Given the description of an element on the screen output the (x, y) to click on. 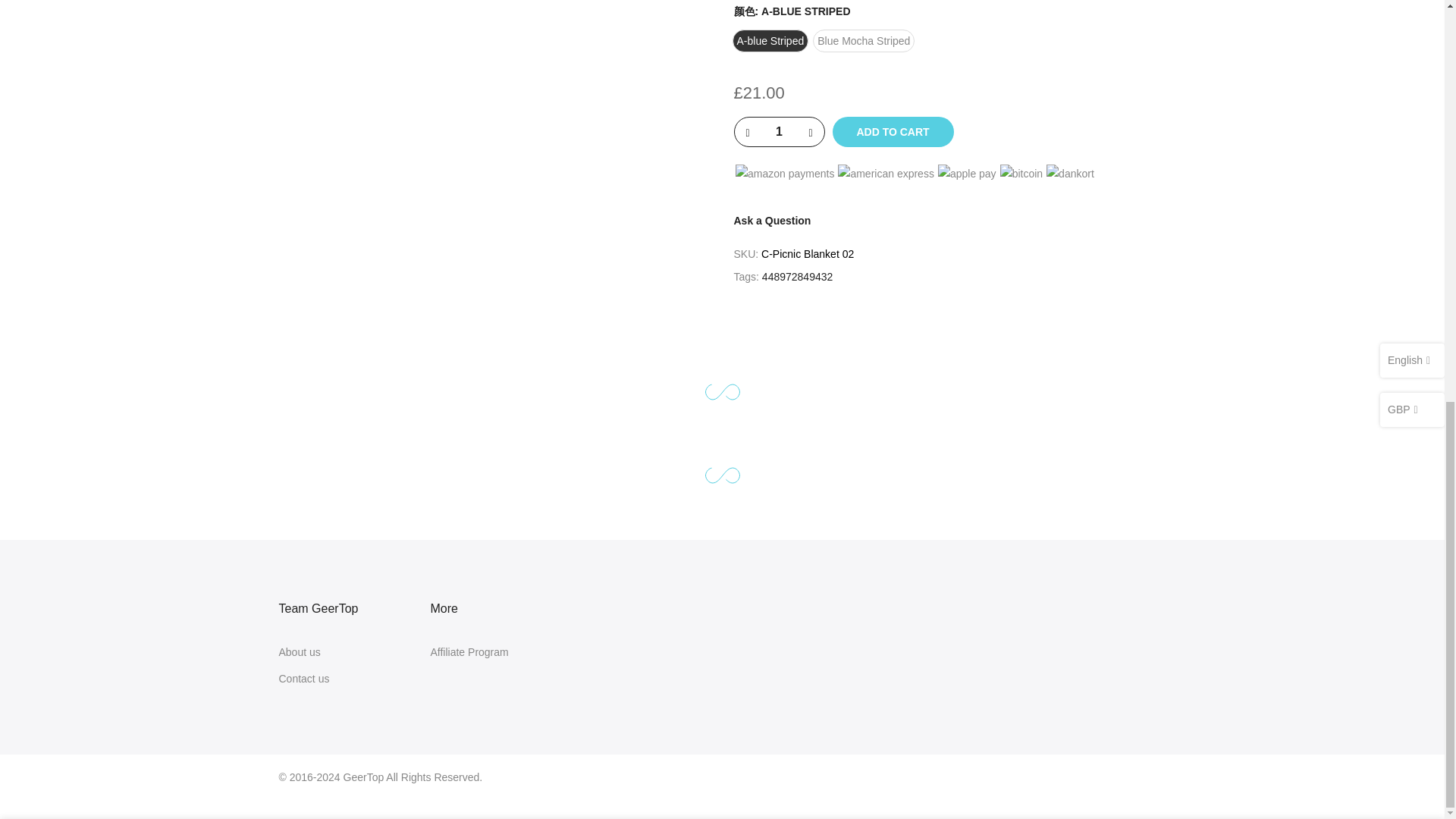
Affiliate Program (469, 652)
ADD TO CART (892, 132)
448972849432 (796, 276)
Contact us (304, 678)
Ask a Question (771, 220)
1 (1001, 66)
About us (299, 652)
1 (778, 131)
